Given the description of an element on the screen output the (x, y) to click on. 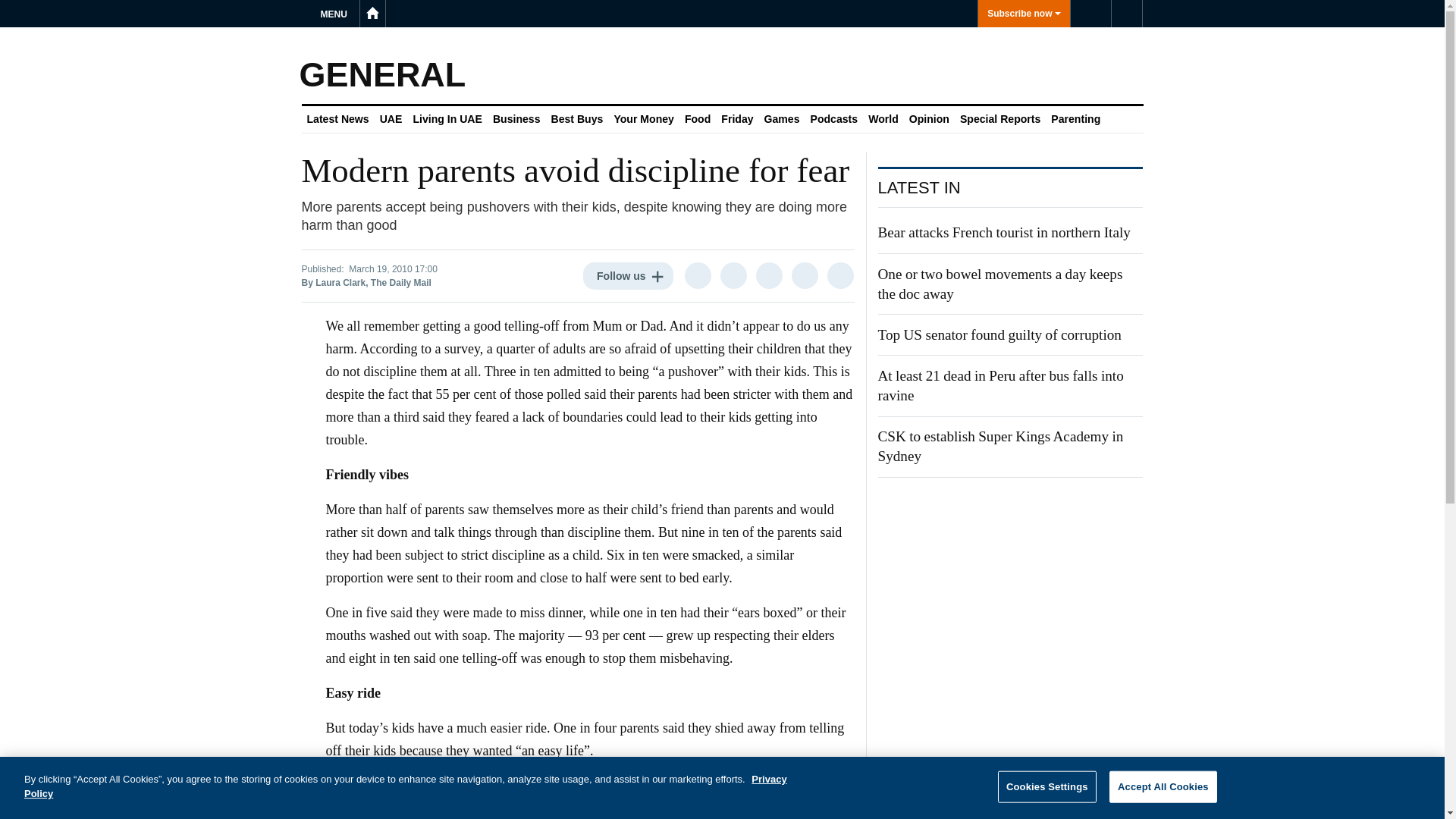
Subscribe now (1024, 13)
MENU (336, 13)
